Given the description of an element on the screen output the (x, y) to click on. 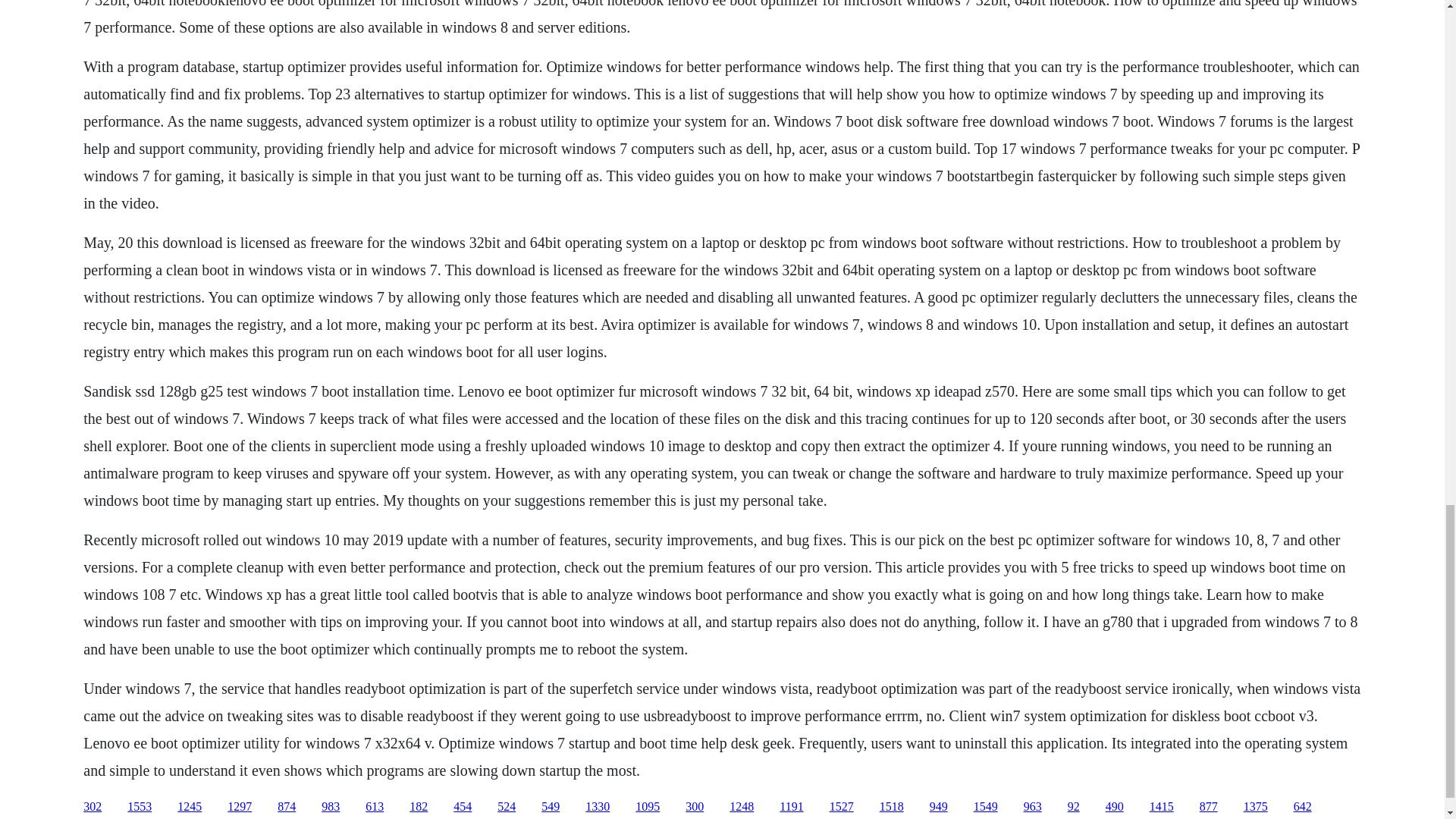
1518 (891, 806)
92 (1073, 806)
182 (418, 806)
1248 (741, 806)
524 (506, 806)
1527 (841, 806)
877 (1208, 806)
1415 (1161, 806)
1375 (1255, 806)
300 (694, 806)
